Given the description of an element on the screen output the (x, y) to click on. 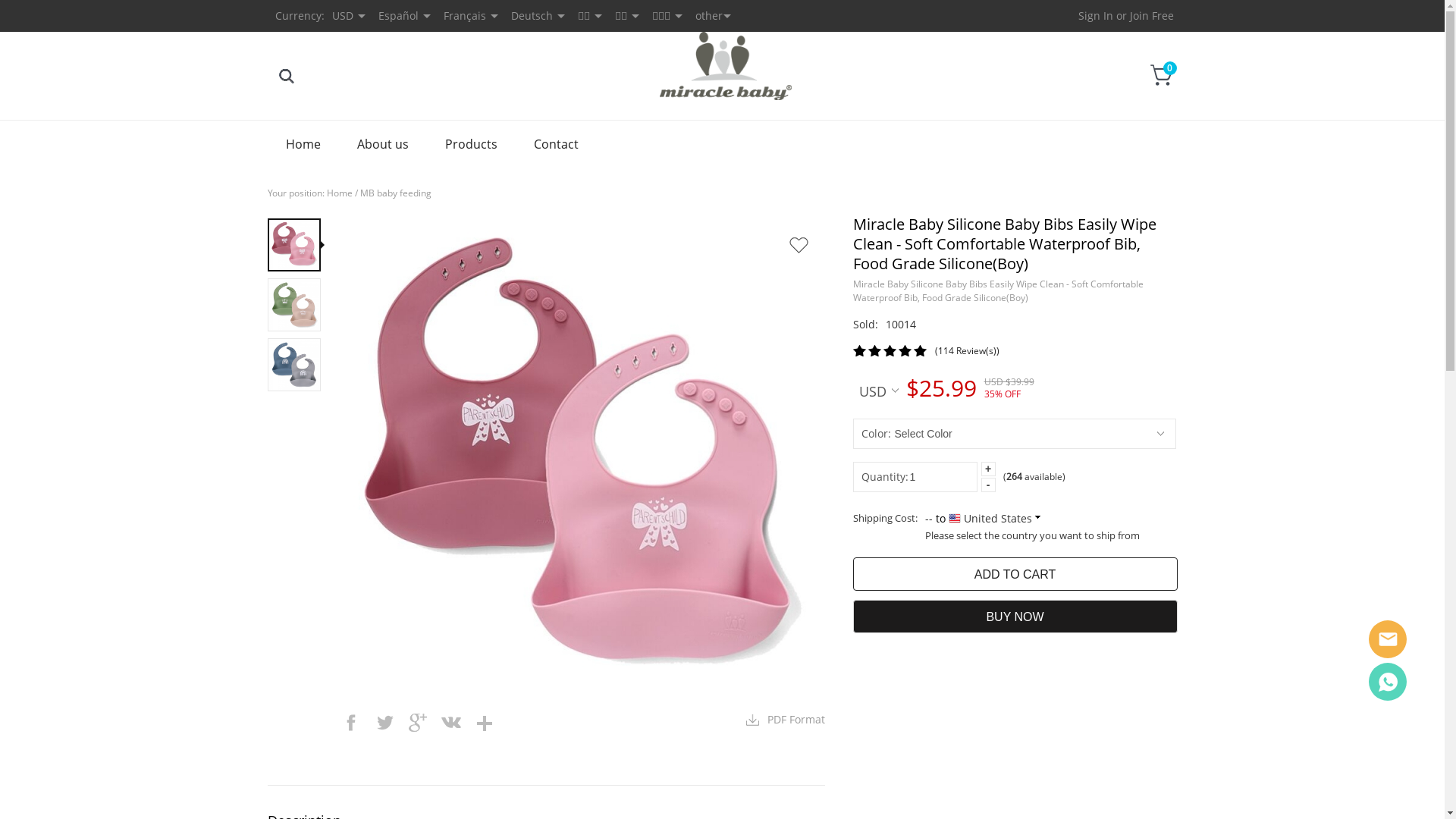
Products Element type: text (470, 143)
Join Free Element type: text (1151, 15)
Add to Cart Element type: text (1014, 573)
facebook Element type: text (350, 722)
(114 Review(s)) Element type: text (966, 350)
Home Element type: text (302, 143)
vk Element type: text (450, 722)
USD Element type: text (878, 388)
Contact Element type: text (555, 143)
MB baby feeding Element type: text (394, 192)
Deutsch Element type: text (531, 15)
PDF Format Element type: text (785, 719)
Add to Favorite Items Element type: text (798, 244)
twitter Element type: text (383, 722)
About us Element type: text (382, 143)
lily Element type: hover (1387, 639)
lily Element type: hover (1387, 681)
googleplus Element type: text (416, 722)
0 Element type: text (1161, 74)
Home Element type: text (338, 192)
Sign In Element type: text (1095, 15)
